Given the description of an element on the screen output the (x, y) to click on. 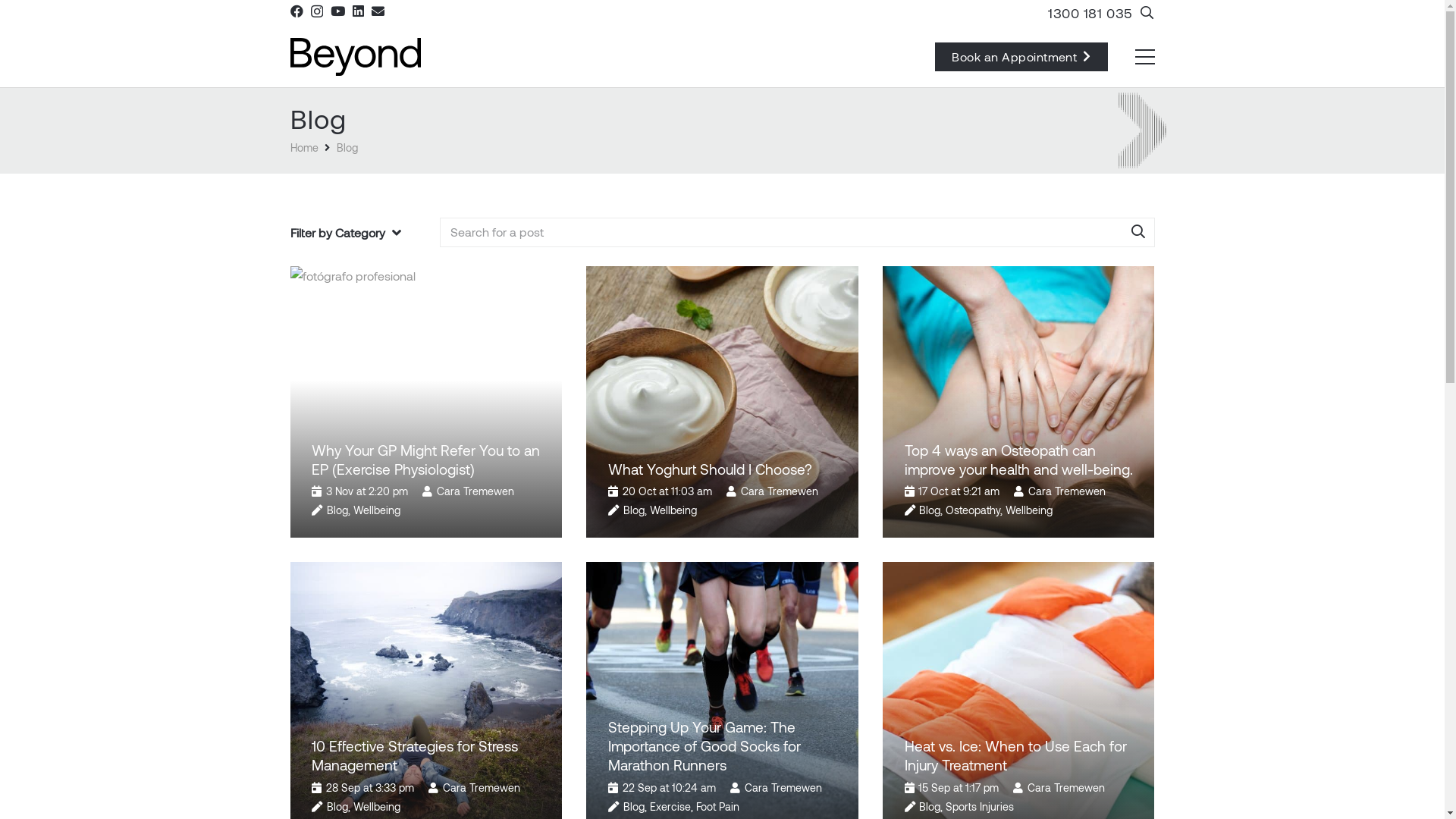
1300 181 035 Element type: text (812, 593)
Wellbeing Element type: text (376, 509)
What Yoghurt Should I Choose? Element type: text (710, 468)
Home Element type: text (303, 147)
Cara Tremewen Element type: text (1065, 787)
Wellbeing Element type: text (1028, 509)
Newcastle Creative Co. Element type: text (913, 778)
YouTube Element type: hover (816, 662)
Heat vs. Ice: When to Use Each for Injury Treatment Element type: text (1014, 755)
Blog Element type: text (346, 147)
Foot Pain Element type: text (717, 806)
Our team Element type: text (312, 691)
Filter by Category Element type: text (357, 232)
Wellbeing Element type: text (376, 806)
Facebook Element type: hover (295, 10)
LinkedIn Element type: hover (846, 662)
Privacy Policy Element type: text (722, 800)
Blog Element type: text (633, 806)
Blog Element type: text (929, 509)
Cara Tremewen Element type: text (1066, 490)
LinkedIn Element type: hover (357, 10)
Sports Injuries Element type: text (979, 806)
10 Effective Strategies for Stress Management Element type: text (414, 755)
Locations Element type: hover (762, 629)
Why Your GP Might Refer You to an EP (Exercise Physiologist) Element type: text (425, 459)
Email Element type: hover (377, 10)
Instagram Element type: hover (316, 11)
Blog Element type: text (929, 806)
Cara Tremewen Element type: text (779, 490)
Filter by Category Element type: text (345, 232)
Blog Element type: text (633, 509)
Cara Tremewen Element type: text (783, 787)
Wellbeing Element type: text (672, 509)
Send an Email Element type: text (816, 558)
Blog Element type: text (337, 806)
Exercise Element type: text (669, 806)
Instagram Element type: hover (785, 663)
YouTube Element type: hover (337, 10)
Osteopathy Element type: text (972, 509)
See Our Locations Element type: text (827, 629)
Facebook Element type: hover (754, 662)
Cara Tremewen Element type: text (481, 787)
Blog Element type: text (337, 509)
Cara Tremewen Element type: text (475, 490)
Book an Appointment Element type: text (1021, 56)
1300 181 035 Element type: text (1090, 12)
